Given the description of an element on the screen output the (x, y) to click on. 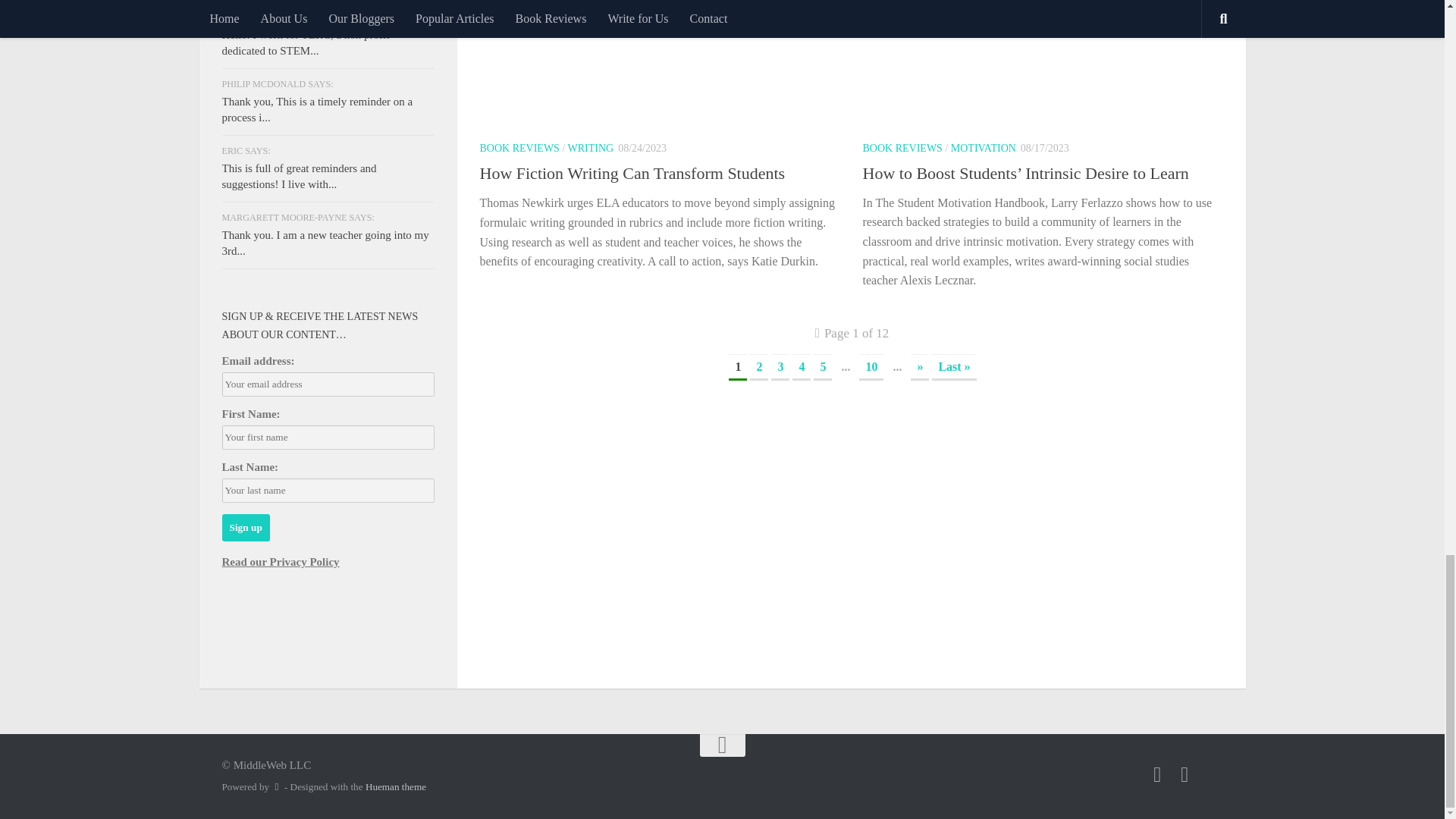
Sign up (245, 527)
